Given the description of an element on the screen output the (x, y) to click on. 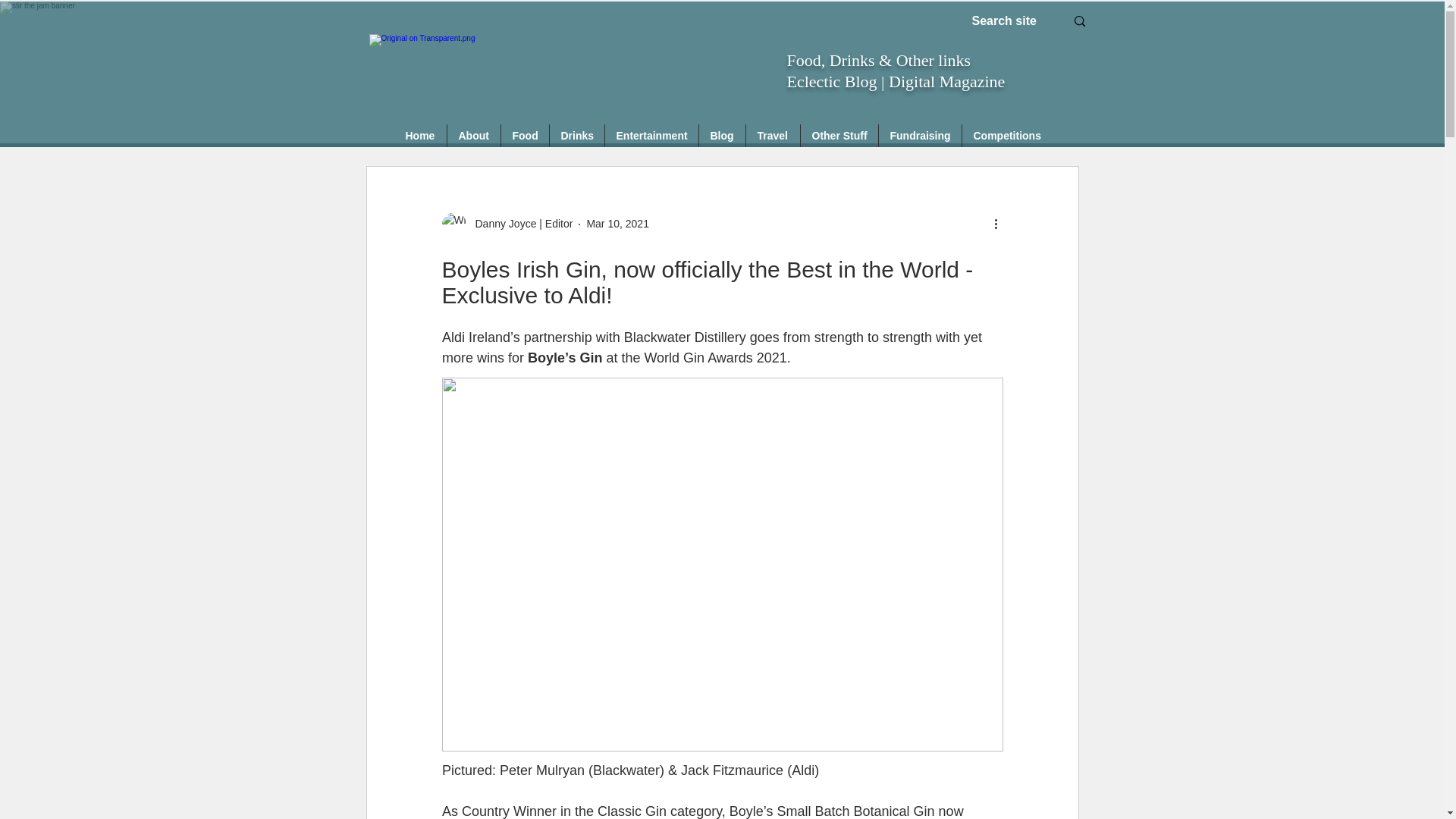
Food (524, 135)
Drinks (576, 135)
Other Stuff (838, 135)
Blog (721, 135)
Travel (772, 135)
Mar 10, 2021 (617, 223)
Entertainment (651, 135)
About (473, 135)
Home (420, 135)
